Given the description of an element on the screen output the (x, y) to click on. 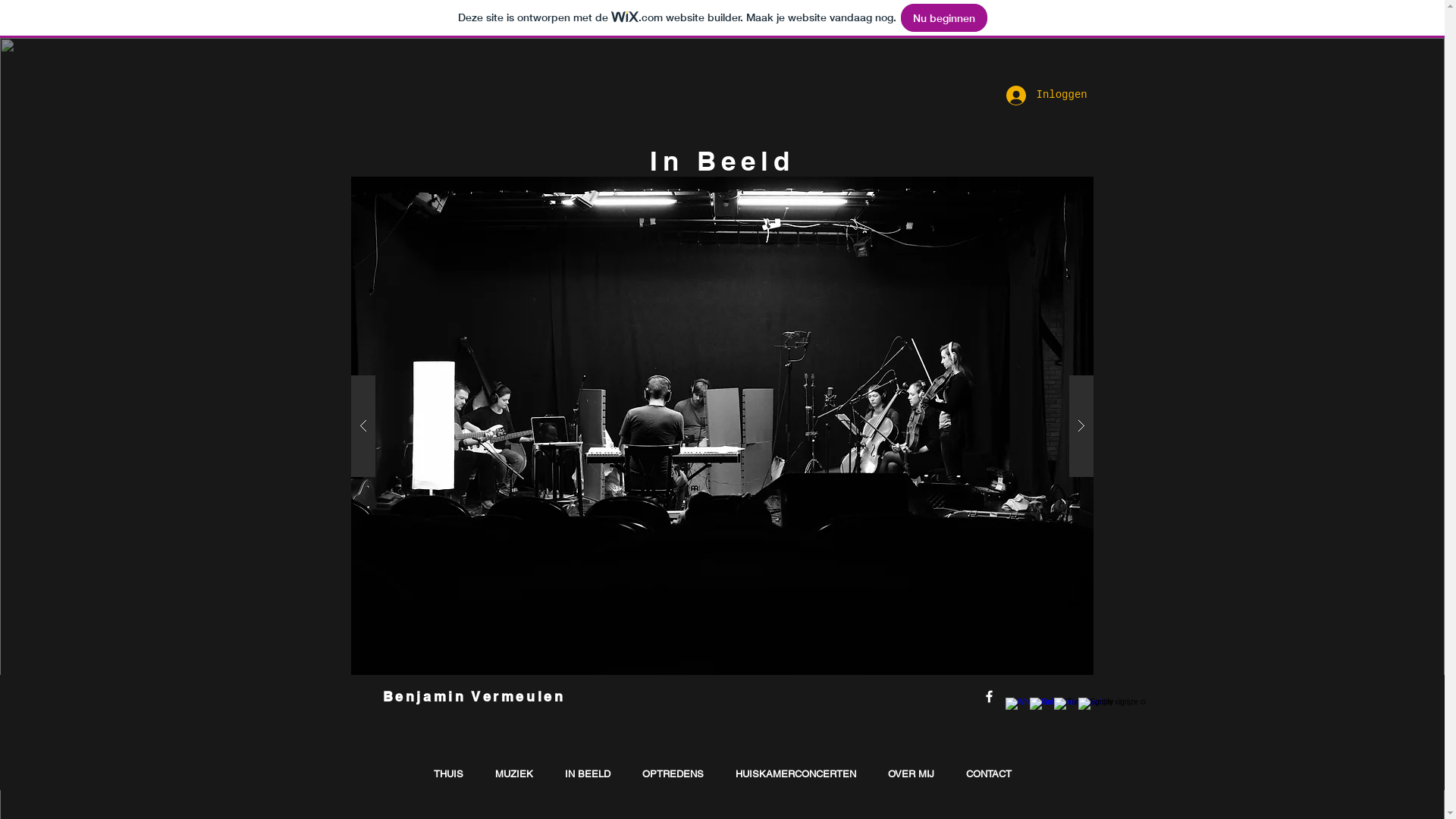
HUISKAMERCONCERTEN Element type: text (794, 773)
THUIS Element type: text (447, 773)
OPTREDENS Element type: text (672, 773)
Inloggen Element type: text (1039, 95)
Benjamin Vermeulen Element type: text (473, 696)
OVER MIJ Element type: text (911, 773)
CONTACT Element type: text (987, 773)
MUZIEK Element type: text (514, 773)
IN BEELD Element type: text (587, 773)
